Given the description of an element on the screen output the (x, y) to click on. 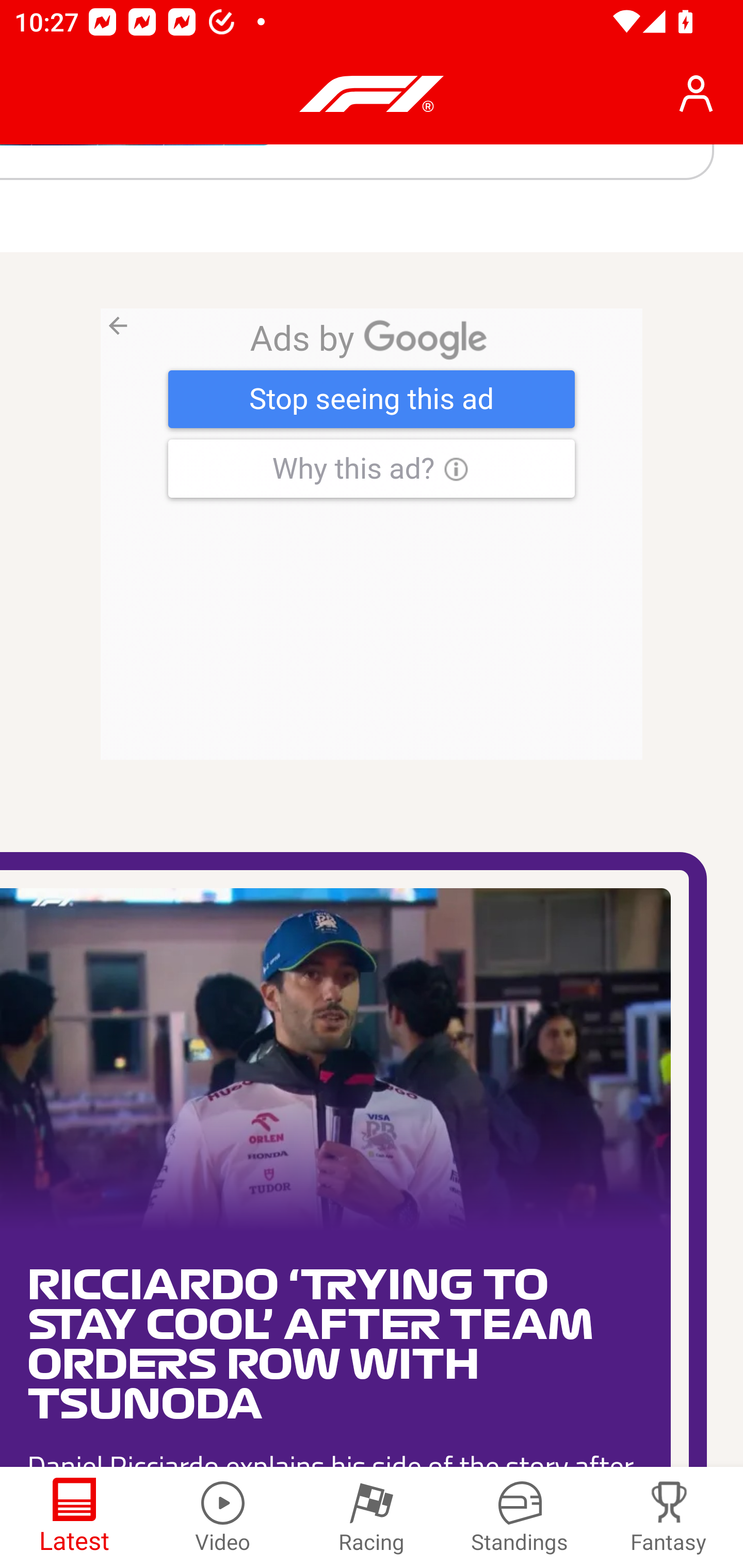
Video (222, 1517)
Racing (371, 1517)
Standings (519, 1517)
Fantasy (668, 1517)
